Given the description of an element on the screen output the (x, y) to click on. 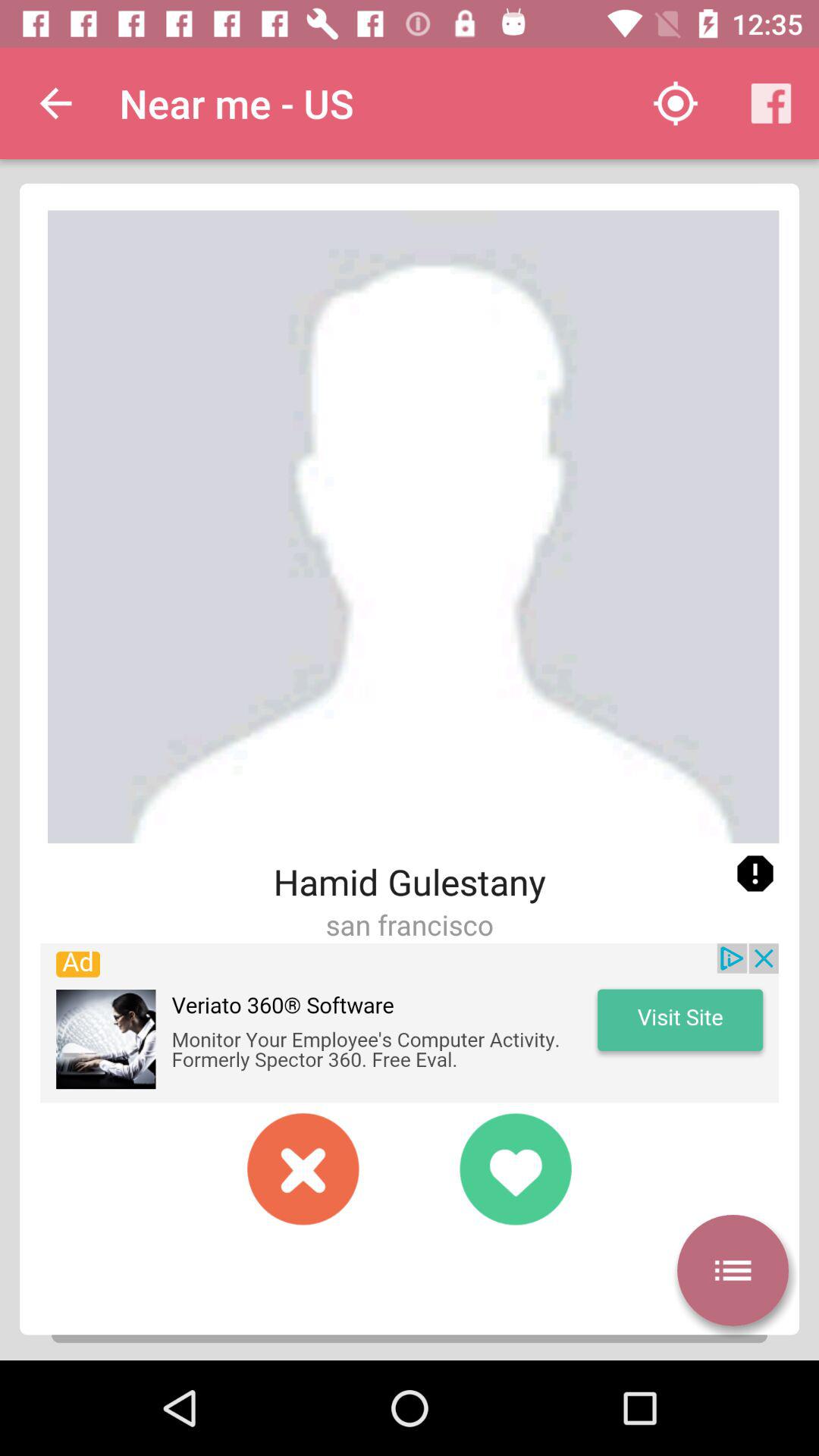
open settings (733, 1270)
